Given the description of an element on the screen output the (x, y) to click on. 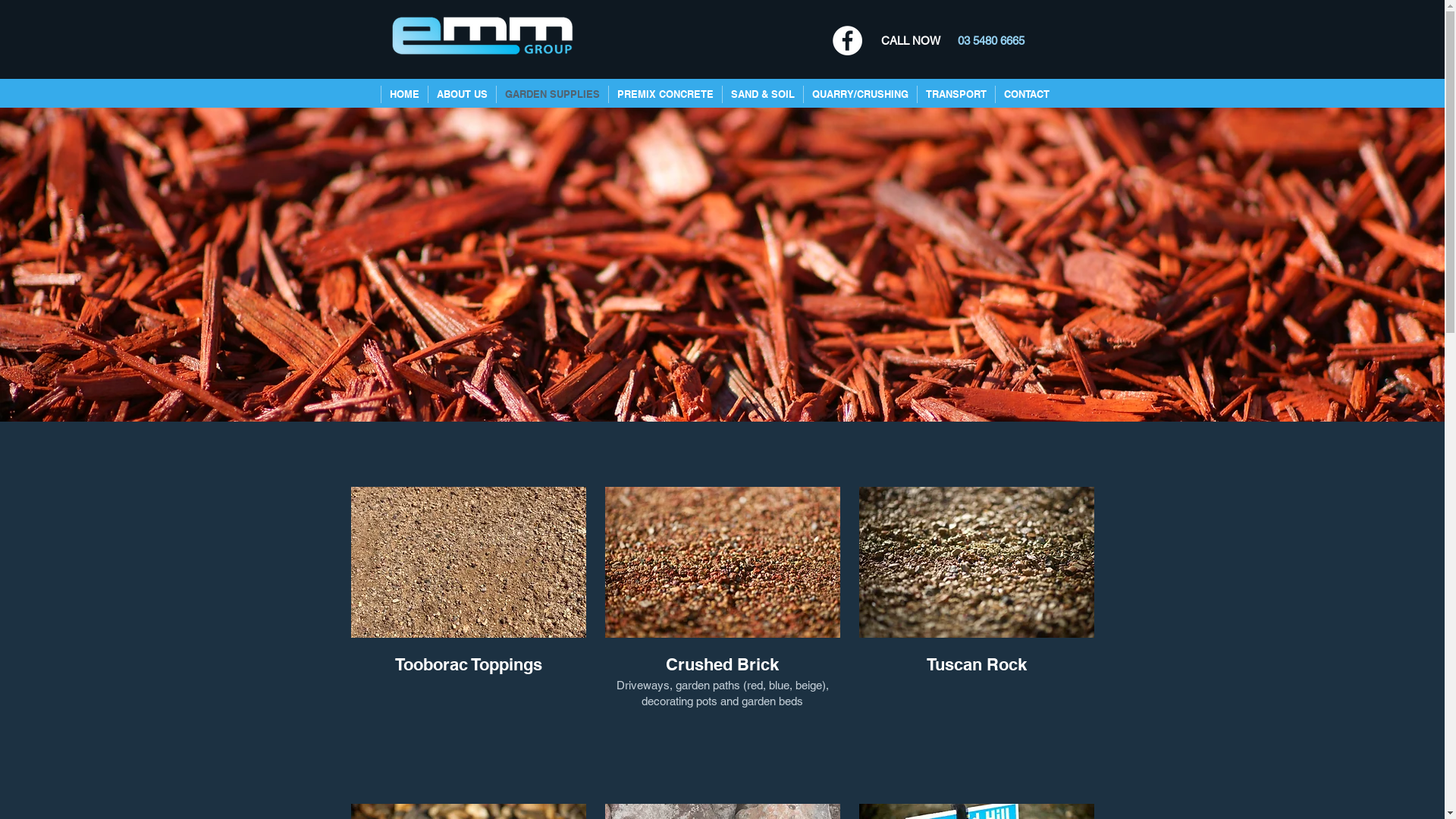
SAND & SOIL Element type: text (762, 94)
TRANSPORT Element type: text (955, 94)
QUARRY/CRUSHING Element type: text (859, 94)
HOME Element type: text (403, 94)
CONTACT Element type: text (1025, 94)
PREMIX CONCRETE Element type: text (664, 94)
ABOUT US Element type: text (461, 94)
GARDEN SUPPLIES Element type: text (551, 94)
